Given the description of an element on the screen output the (x, y) to click on. 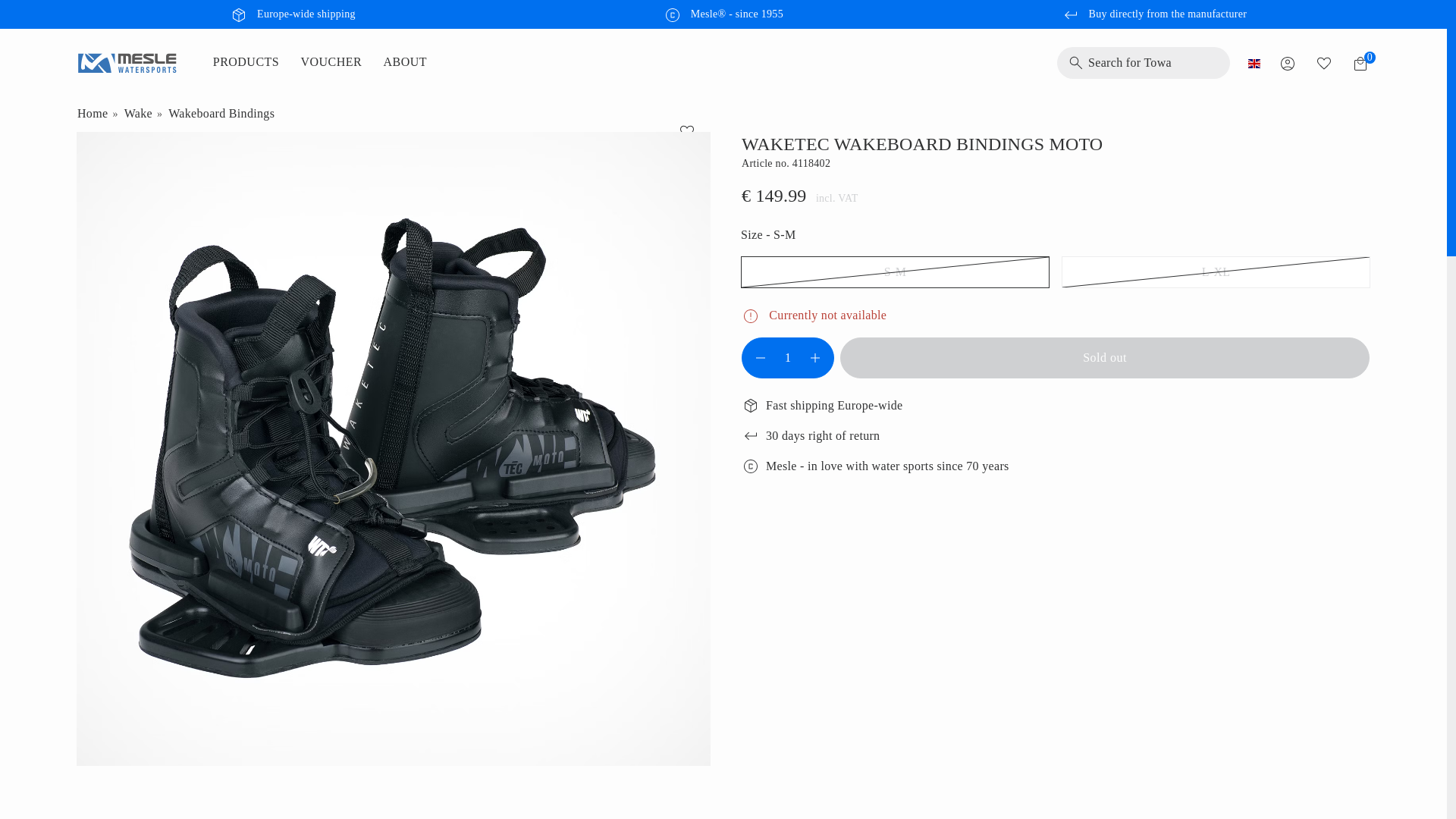
Buy directly from the manufacturer (1153, 14)
More (723, 14)
To Homepage (126, 62)
Europe-wide shipping (292, 14)
1 (788, 357)
PRODUCTS (254, 61)
More (292, 14)
More (1153, 14)
